Given the description of an element on the screen output the (x, y) to click on. 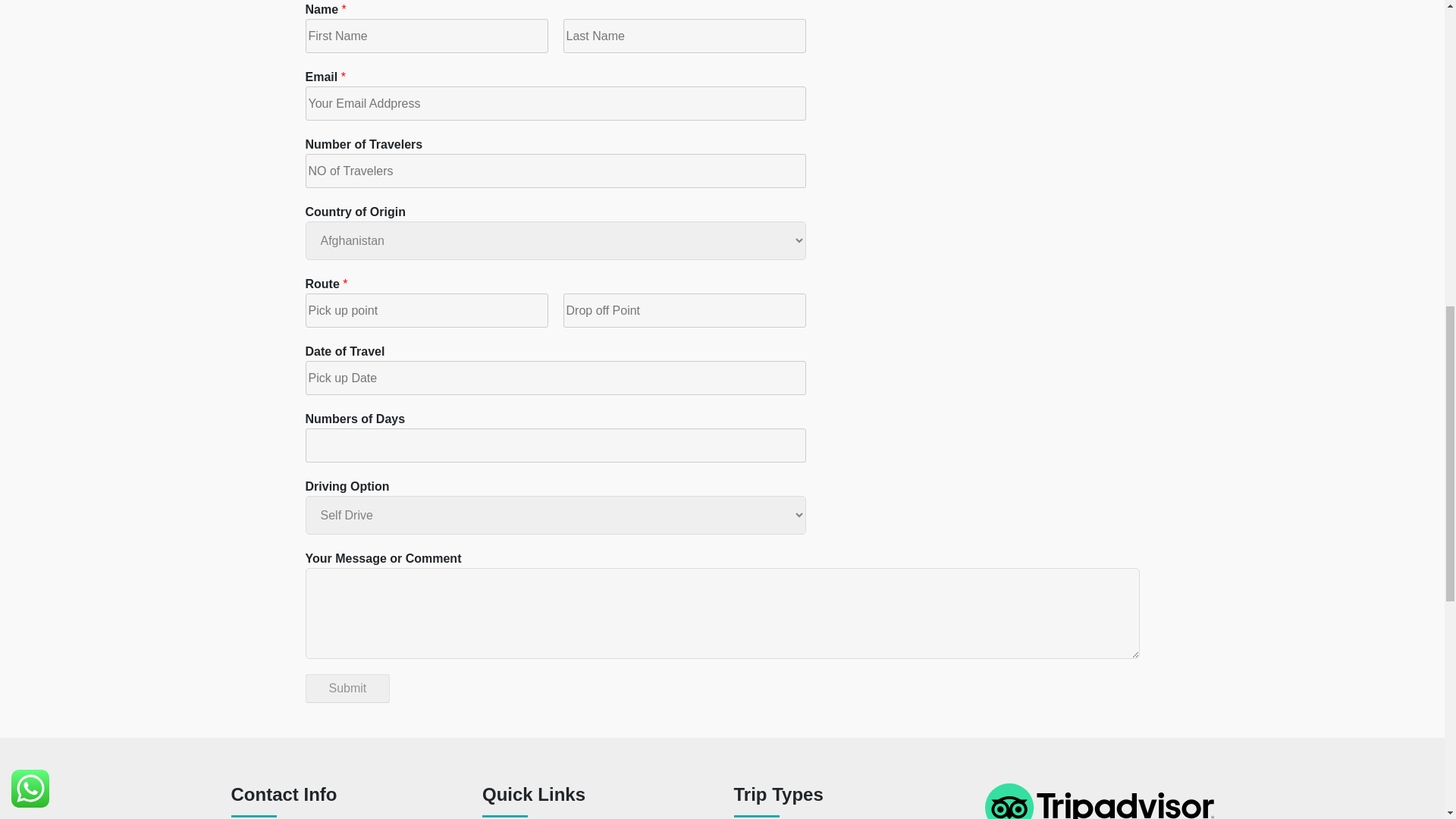
Submit (347, 688)
